Given the description of an element on the screen output the (x, y) to click on. 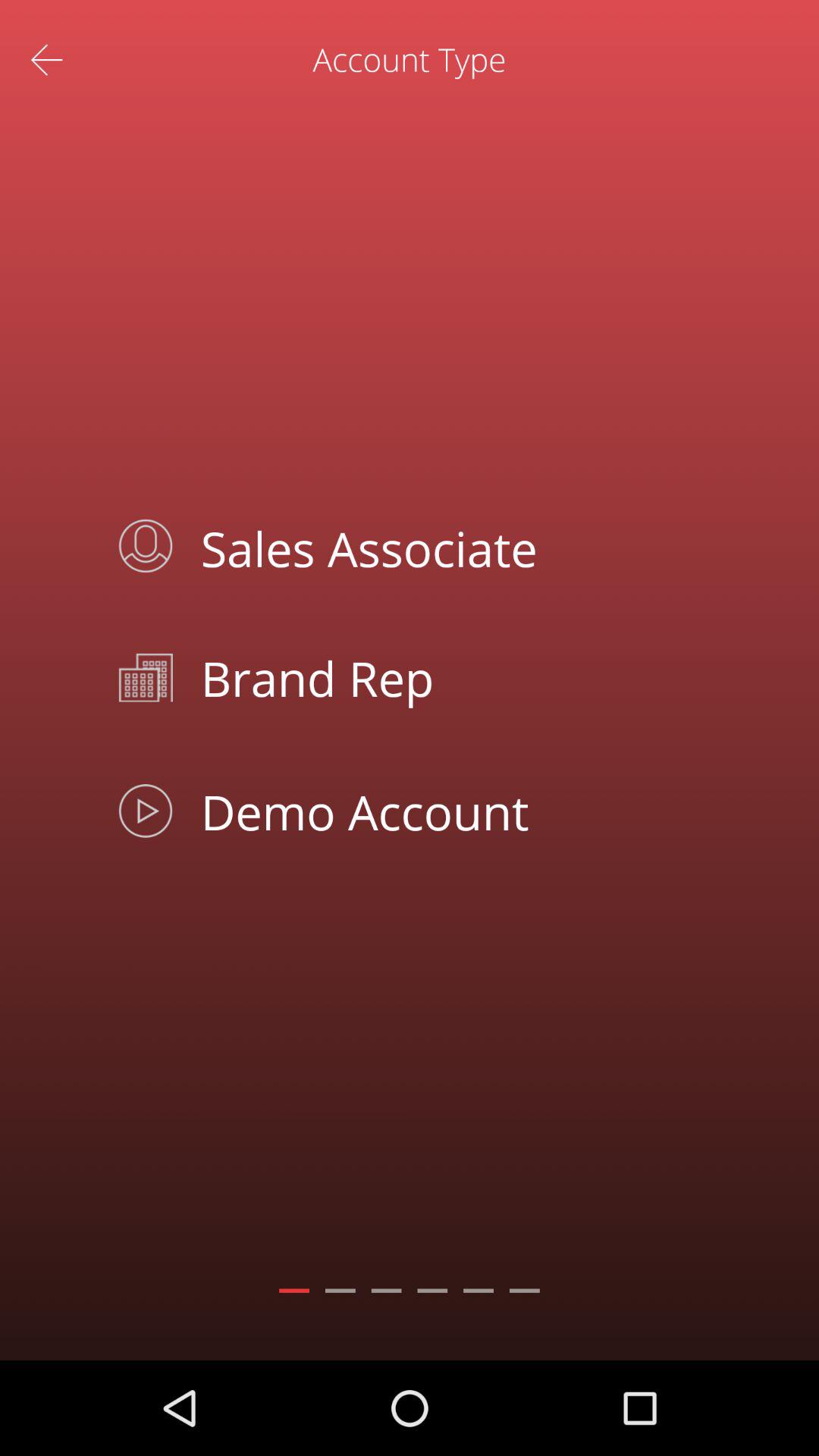
swipe until the sales associate app (444, 546)
